Given the description of an element on the screen output the (x, y) to click on. 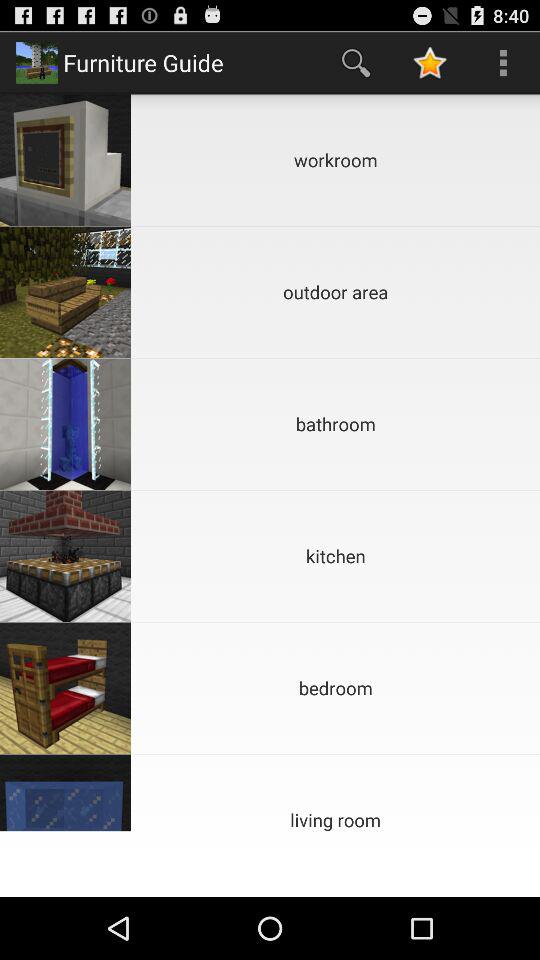
tap bathroom icon (335, 423)
